Given the description of an element on the screen output the (x, y) to click on. 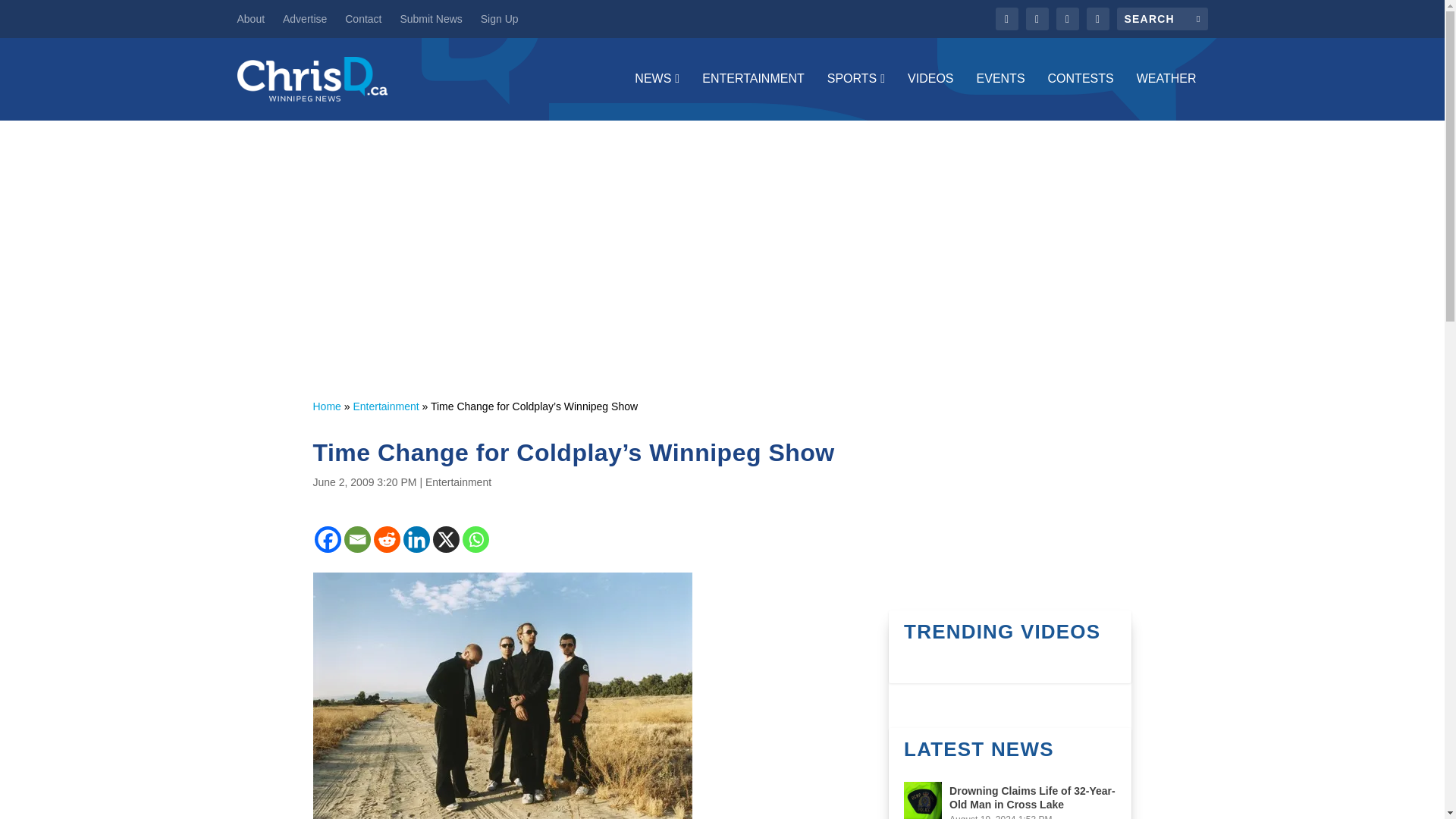
Contact (363, 18)
SPORTS (856, 96)
Drowning Claims Life of 32-Year-Old Man in Cross Lake (923, 800)
Entertainment (385, 406)
Linkedin (416, 539)
Search for: (1161, 18)
NEWS (656, 96)
CONTESTS (1080, 96)
Advertise (304, 18)
Whatsapp (476, 539)
